Given the description of an element on the screen output the (x, y) to click on. 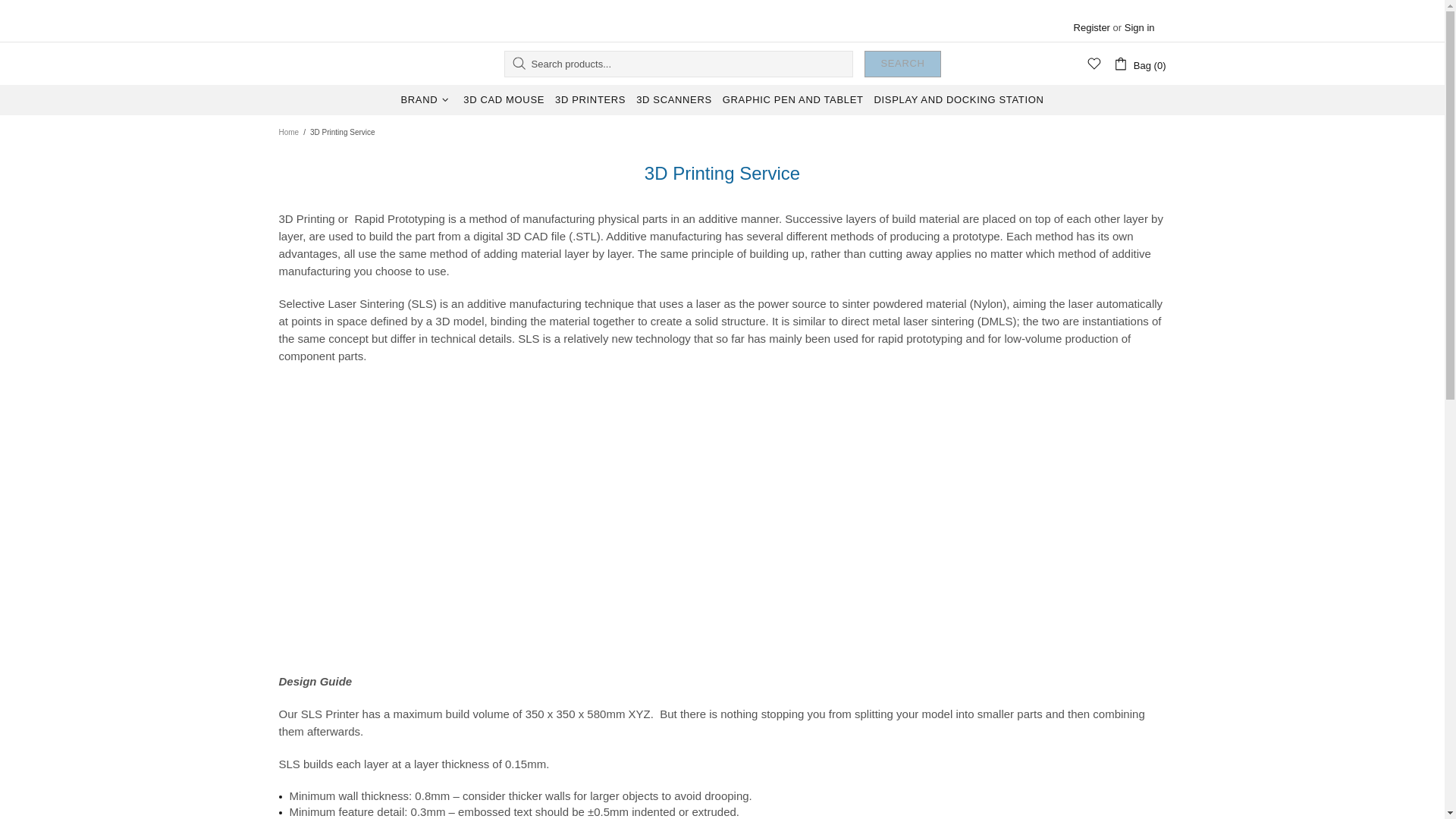
3D CAD MOUSE (504, 100)
GRAPHIC PEN AND TABLET (793, 100)
BRAND (427, 100)
Register (1091, 27)
Sign in (1139, 27)
DISPLAY AND DOCKING STATION (959, 100)
3D PRINTERS (590, 100)
Digital3d.com.au (339, 63)
Home (288, 132)
SEARCH (902, 63)
3D SCANNERS (673, 100)
